Given the description of an element on the screen output the (x, y) to click on. 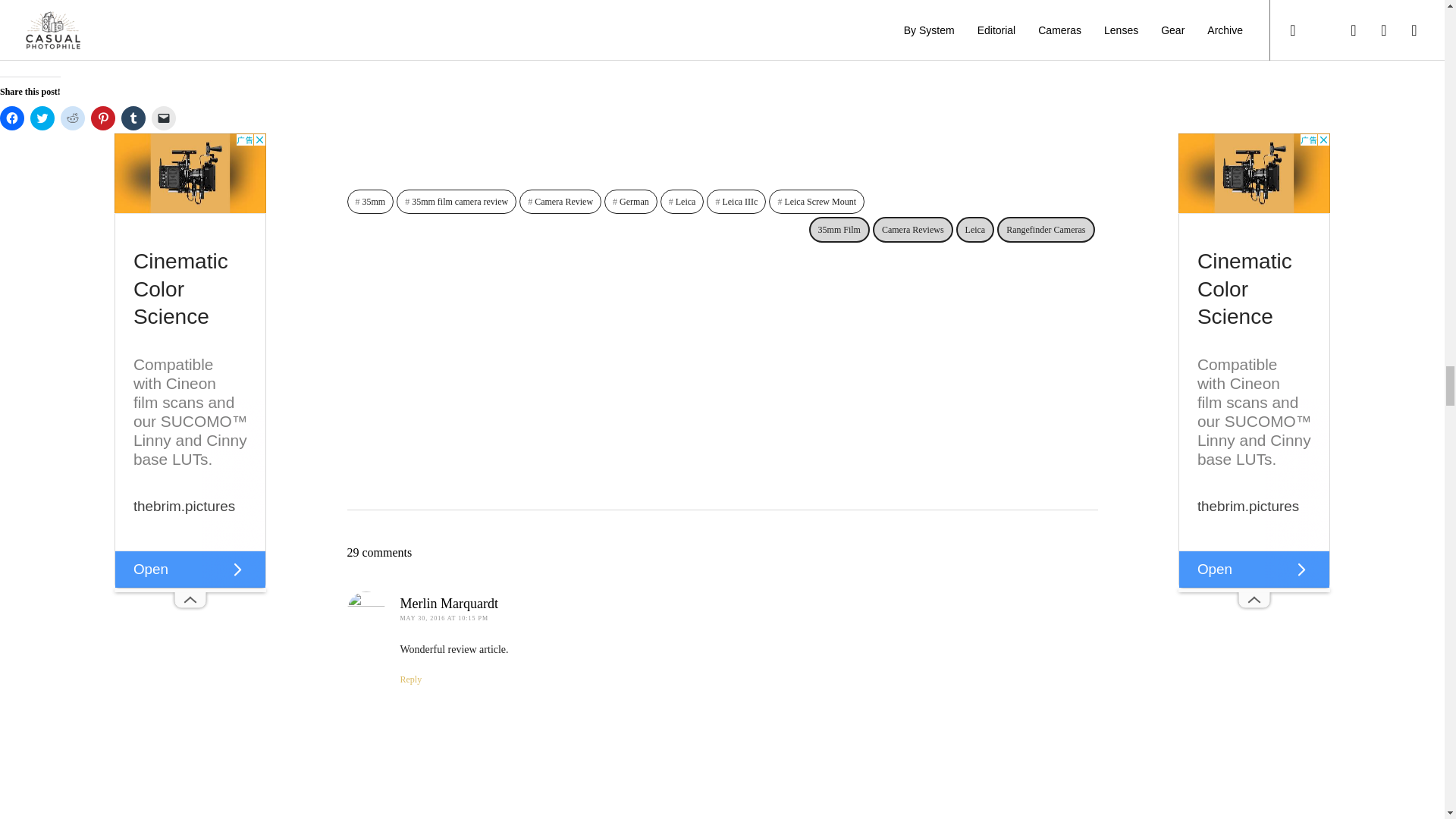
Click to share on Twitter (42, 118)
Click to share on Facebook (12, 118)
Click to share on Pinterest (102, 118)
Click to email a link to a friend (163, 118)
Click to share on Reddit (72, 118)
Click to share on Tumblr (132, 118)
